Given the description of an element on the screen output the (x, y) to click on. 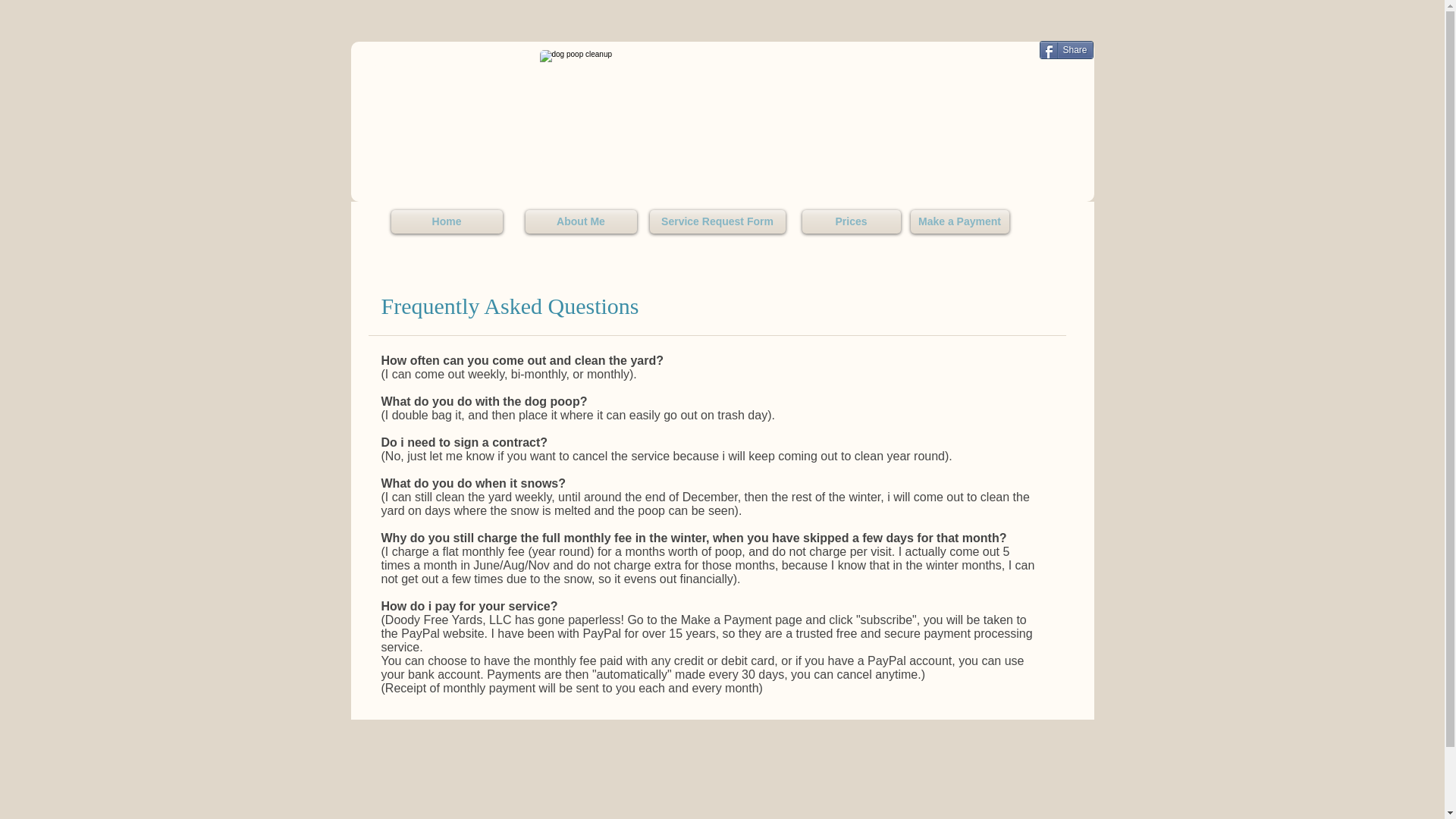
Prices (851, 221)
About Me (580, 221)
Service Request Form (716, 221)
Share (1066, 49)
pet waste removal (717, 105)
Home (446, 221)
Share (1066, 49)
Make a Payment (959, 221)
